Given the description of an element on the screen output the (x, y) to click on. 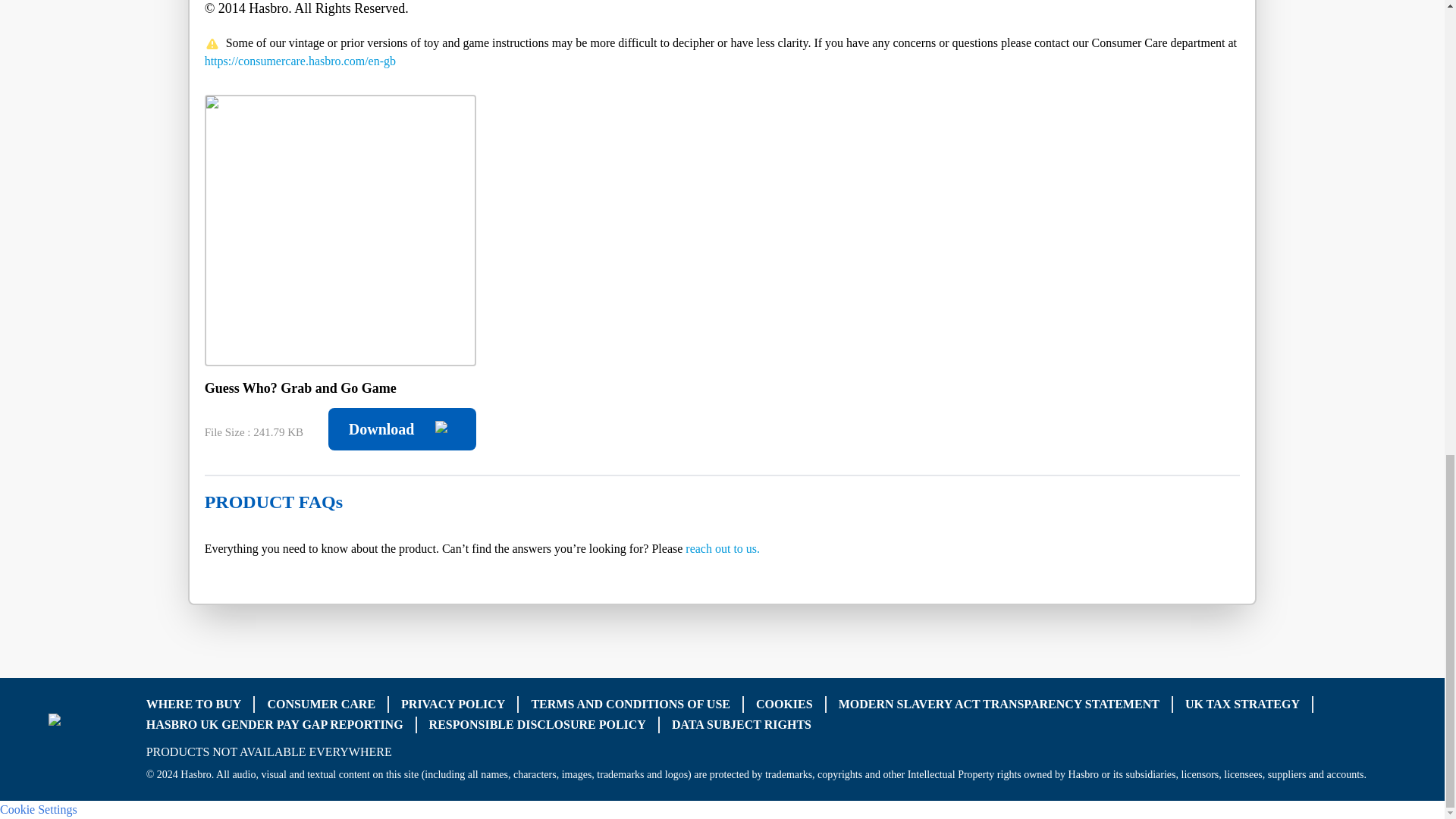
COOKIES (783, 703)
DATA SUBJECT RIGHTS (740, 723)
UK TAX STRATEGY (1242, 703)
RESPONSIBLE DISCLOSURE POLICY (537, 723)
MODERN SLAVERY ACT TRANSPARENCY STATEMENT (998, 703)
CONSUMER CARE (320, 703)
reach out to us. (722, 548)
PRIVACY POLICY (453, 703)
WHERE TO BUY (194, 703)
HASBRO UK GENDER PAY GAP REPORTING (275, 723)
